Given the description of an element on the screen output the (x, y) to click on. 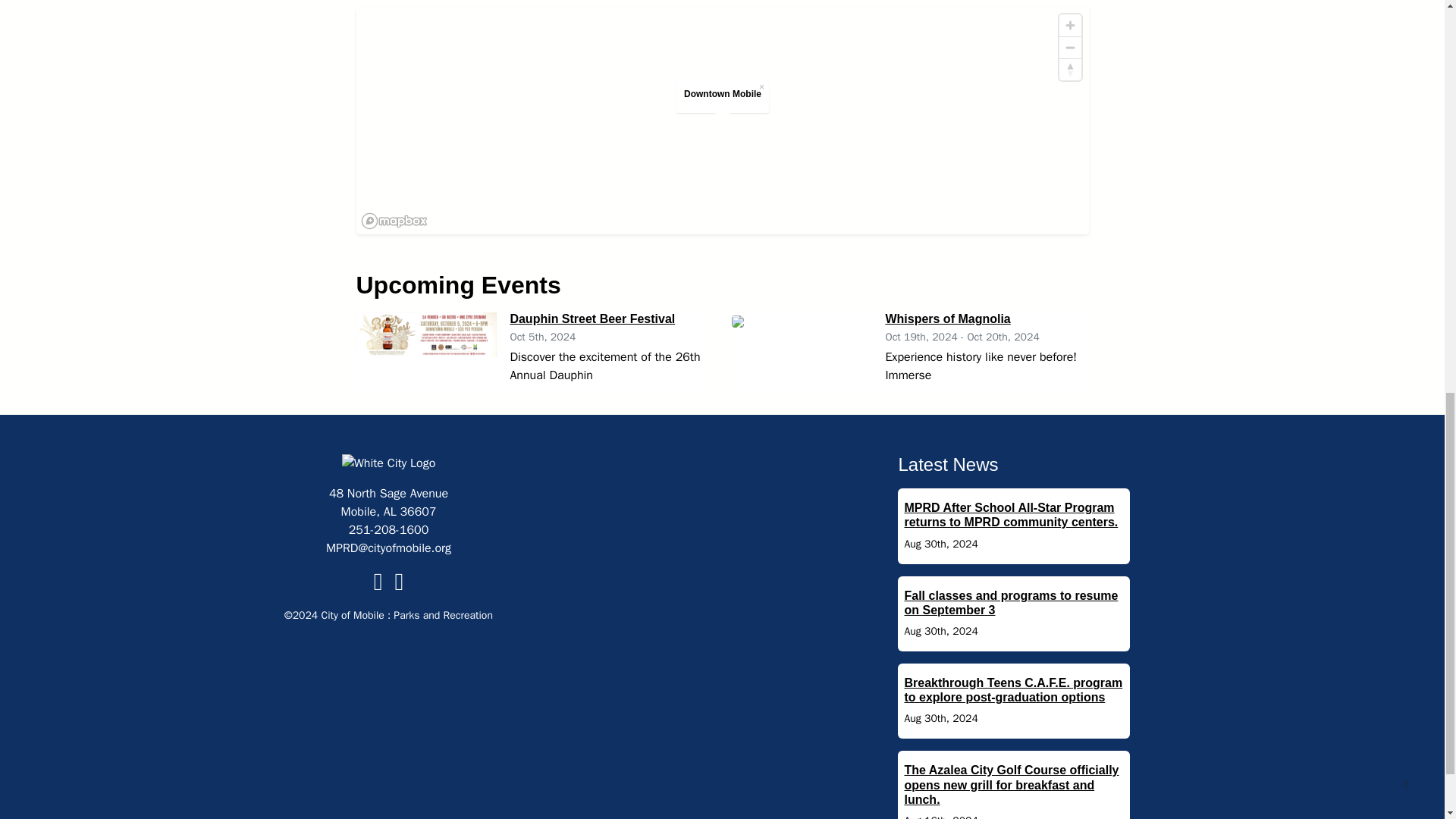
Zoom in (1069, 25)
Fall classes and programs to resume on September 3 (1011, 602)
Zoom out (1069, 47)
Whispers of Magnolia (947, 318)
Dauphin Street Beer Festival (592, 318)
Reset bearing to north (1069, 69)
